Given the description of an element on the screen output the (x, y) to click on. 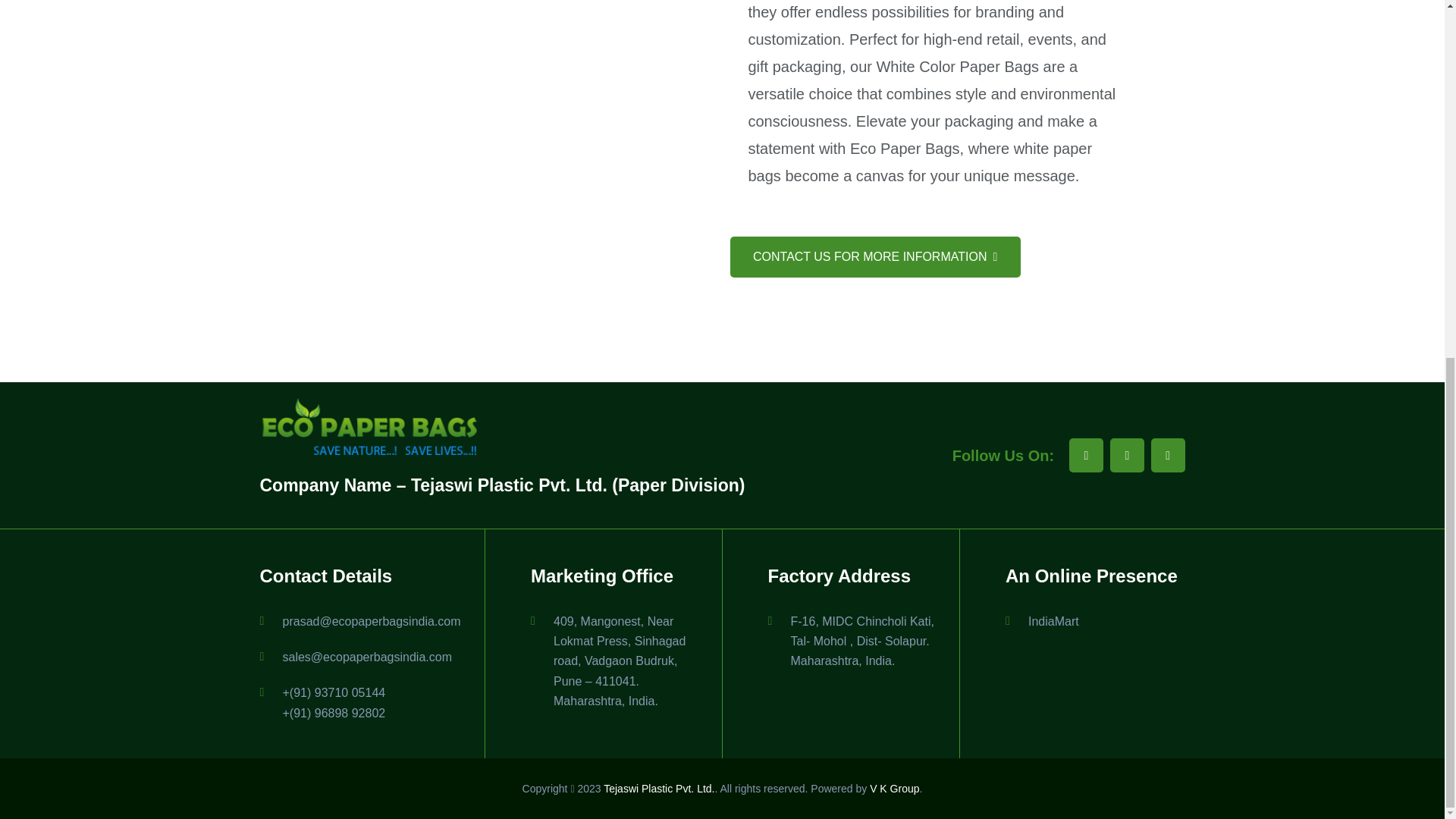
CONTACT US FOR MORE INFORMATION (874, 256)
IndiaMart (1052, 621)
Tejaswi Plastic Pvt. Ltd. (659, 788)
V K Group (893, 788)
